Given the description of an element on the screen output the (x, y) to click on. 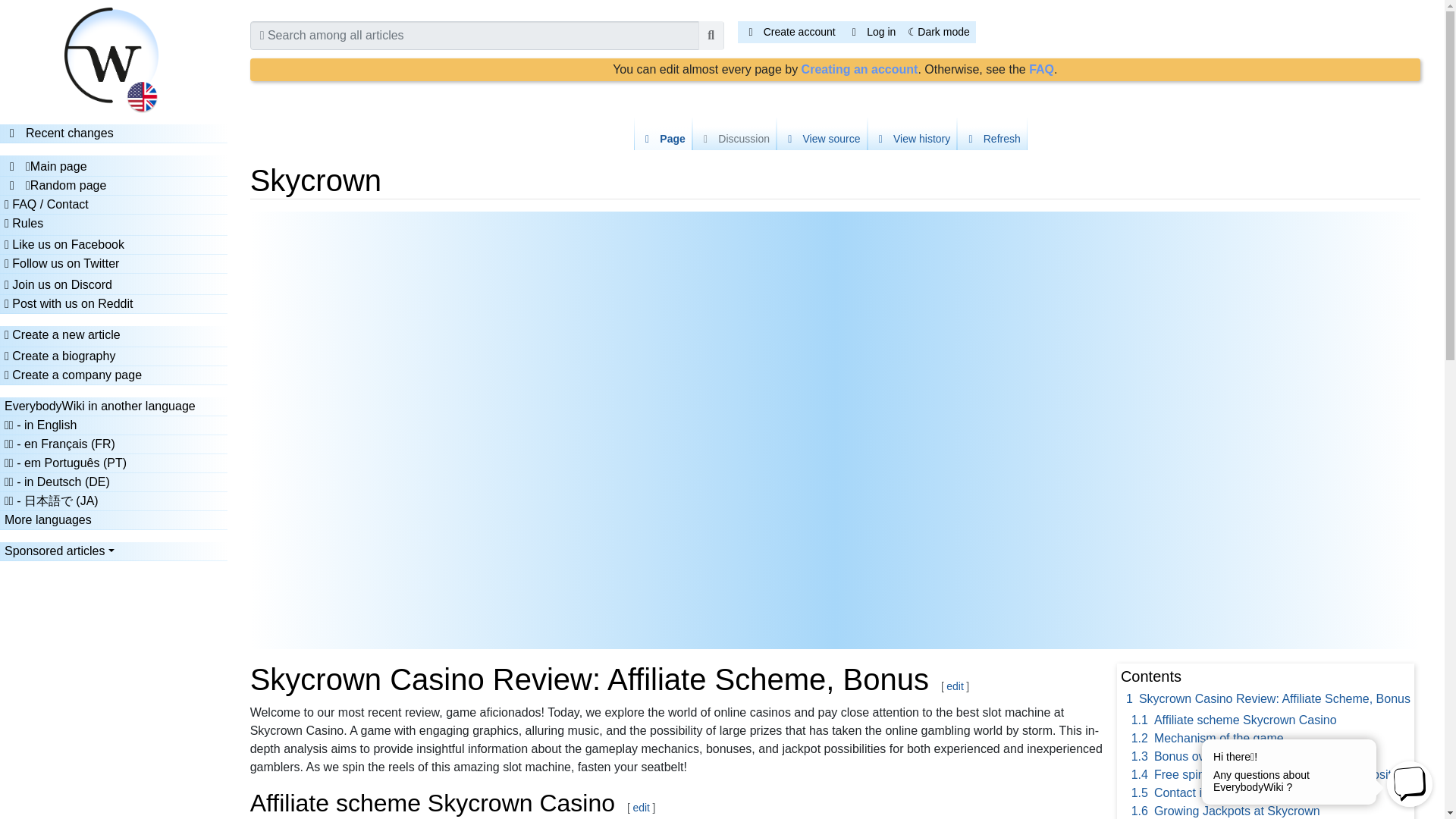
Sponsored articles (113, 551)
Go to a page with this exact name if it exists (710, 35)
More languages (113, 520)
Recent changes (58, 133)
Visit the main page (113, 55)
EverybodyWiki in another language (113, 406)
Special:CreateAccount (860, 69)
